Given the description of an element on the screen output the (x, y) to click on. 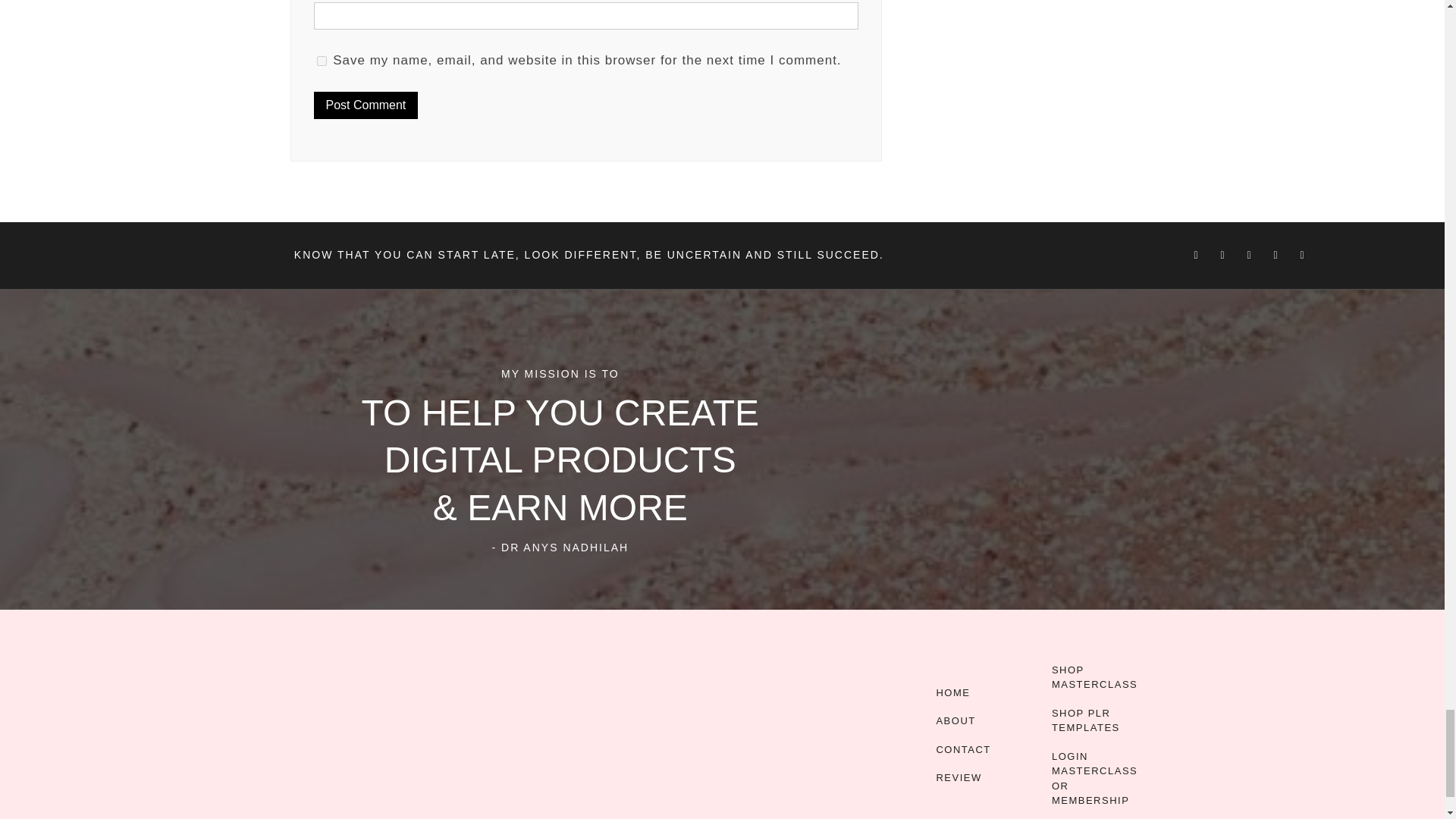
Post Comment (366, 104)
yes (321, 61)
